Given the description of an element on the screen output the (x, y) to click on. 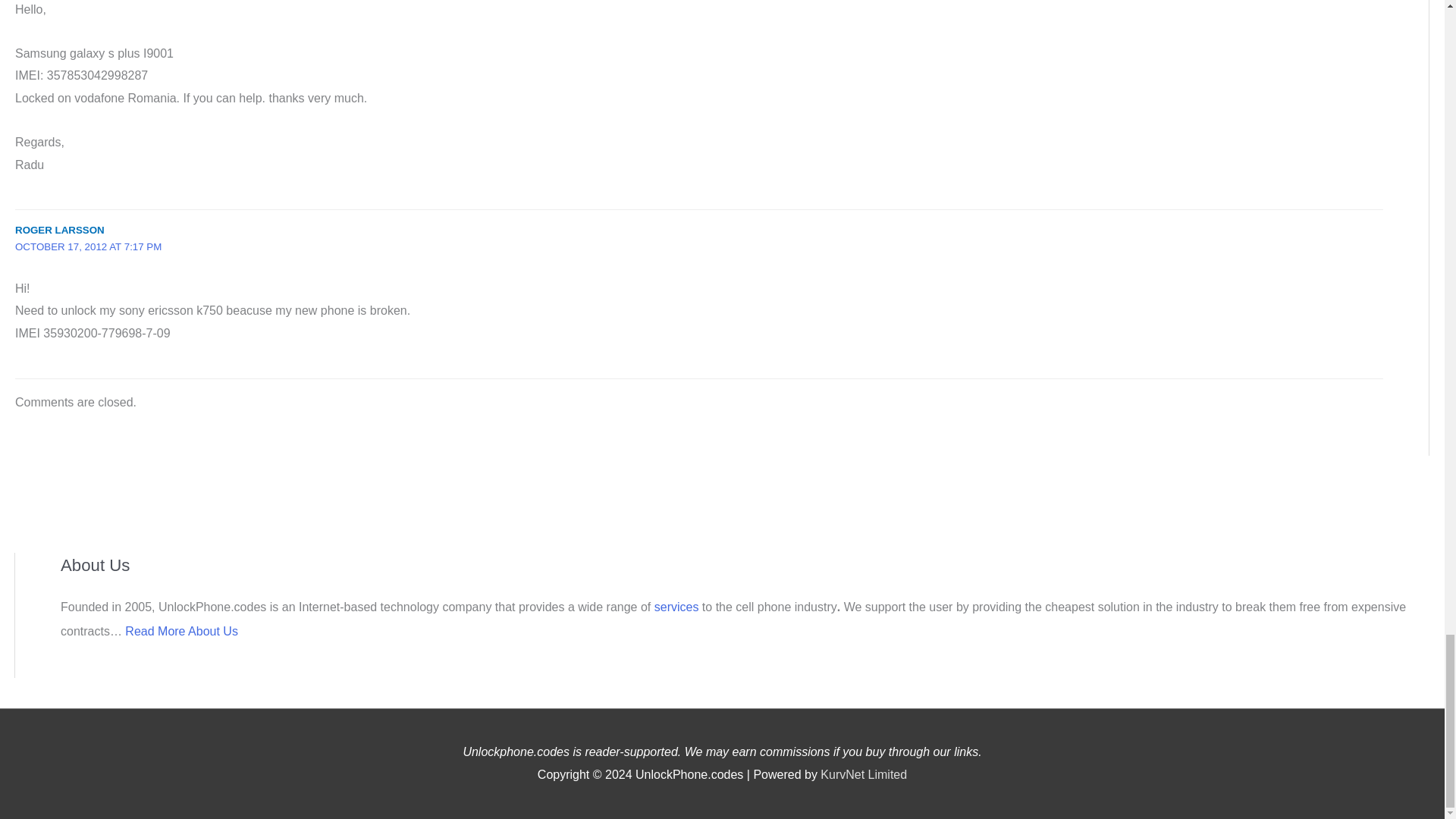
KurvNet Limited (864, 774)
Read More About Us (181, 631)
OCTOBER 17, 2012 AT 7:17 PM (87, 246)
services  (677, 606)
